Given the description of an element on the screen output the (x, y) to click on. 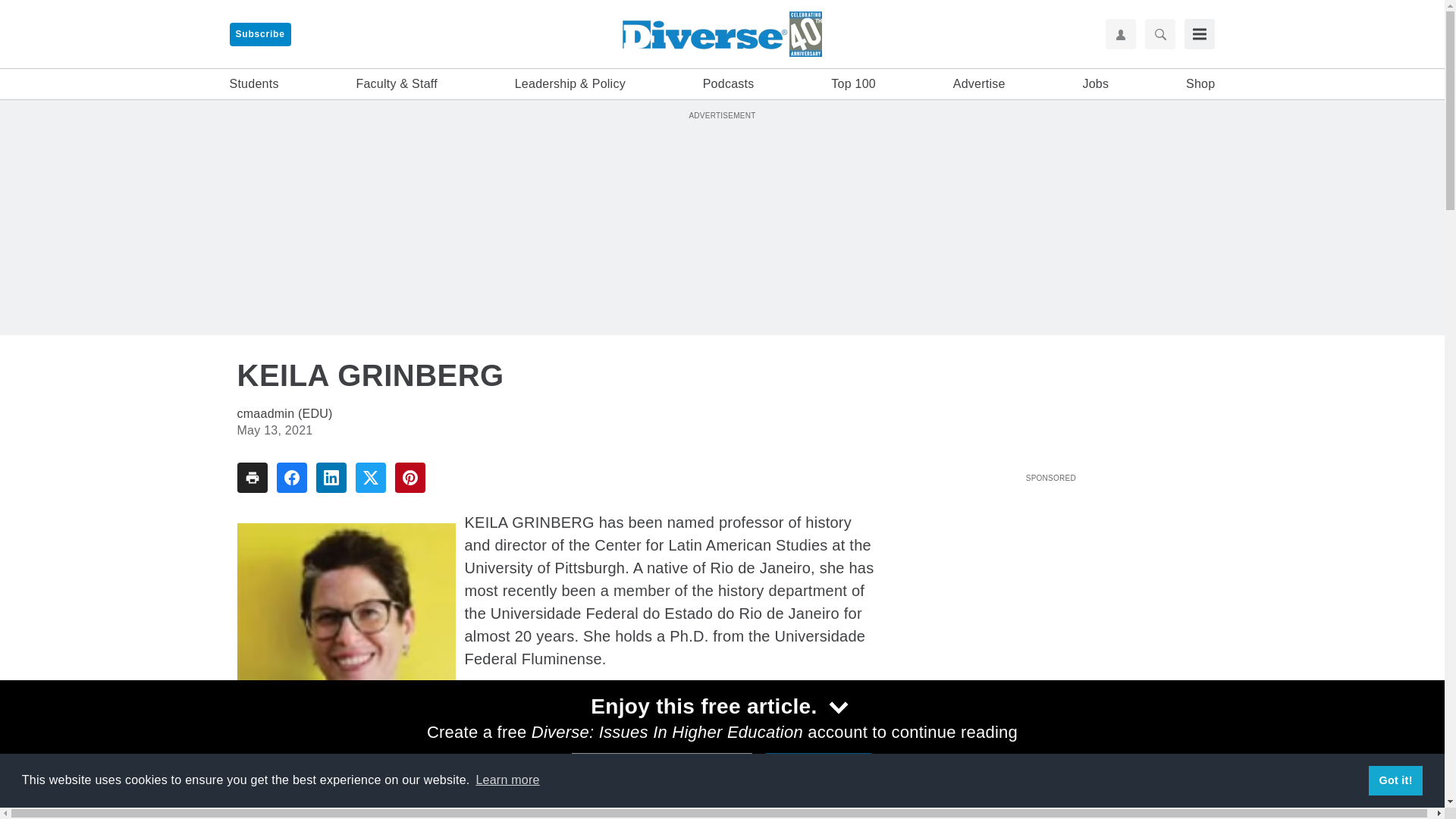
Jobs (1094, 84)
Top 100 (853, 84)
Share To pinterest (409, 477)
Subscribe (258, 33)
Students (253, 84)
Share To print (250, 477)
Share To linkedin (330, 477)
Learn more (507, 780)
Got it! (1395, 780)
Share To twitter (370, 477)
Podcasts (728, 84)
Subscribe (258, 33)
Advertise (979, 84)
Share To facebook (290, 477)
